Given the description of an element on the screen output the (x, y) to click on. 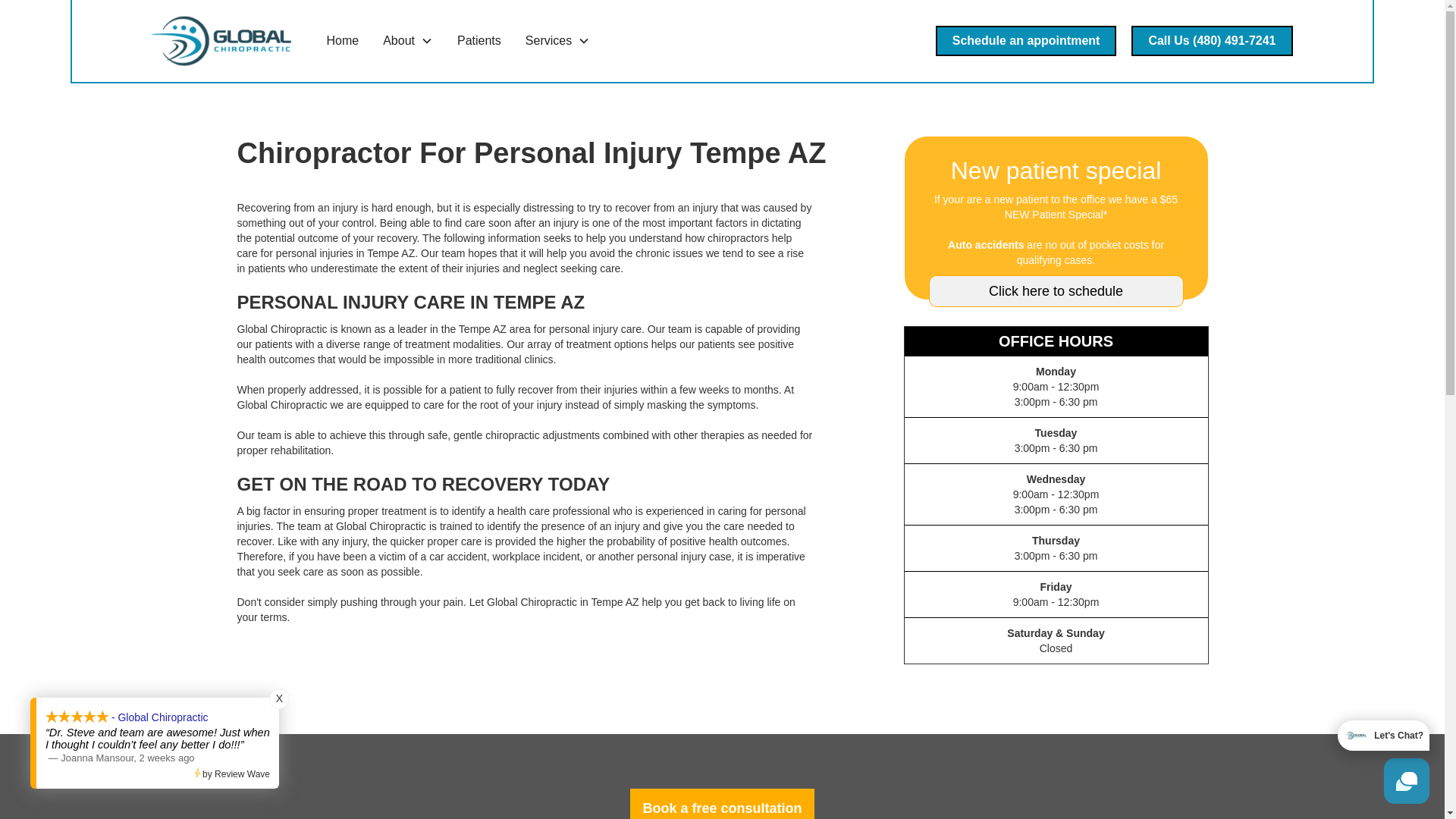
Home (342, 40)
Book a free consultation (721, 803)
Schedule an appointment (1026, 40)
Patients (479, 40)
